Given the description of an element on the screen output the (x, y) to click on. 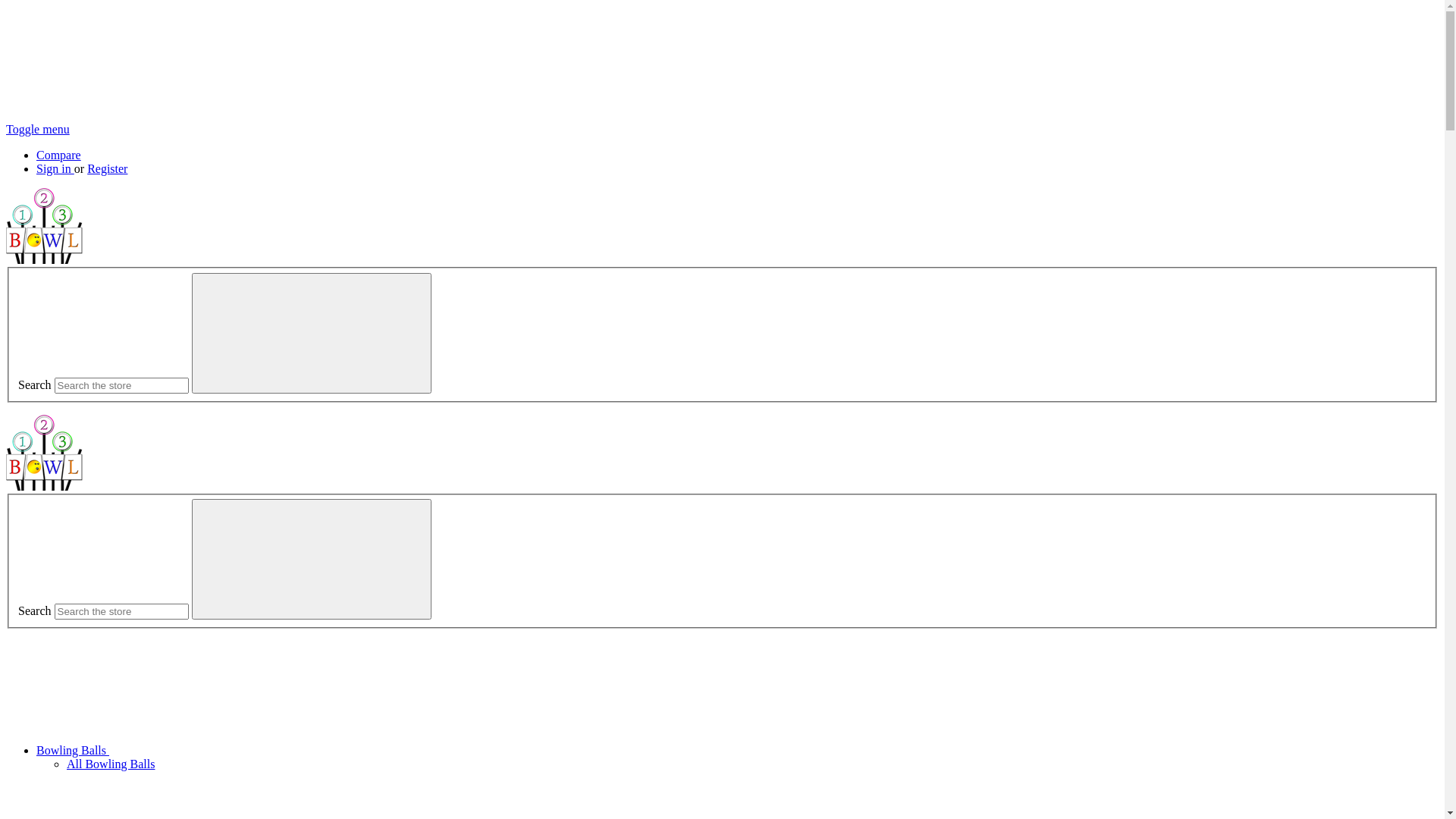
Register Element type: text (107, 168)
Sign in Element type: text (55, 168)
Toggle menu Element type: text (37, 128)
Compare Element type: text (58, 154)
123Bowl Element type: hover (44, 452)
All Bowling Balls Element type: text (110, 763)
Bowling Balls Element type: text (186, 749)
123Bowl Element type: hover (44, 225)
